Given the description of an element on the screen output the (x, y) to click on. 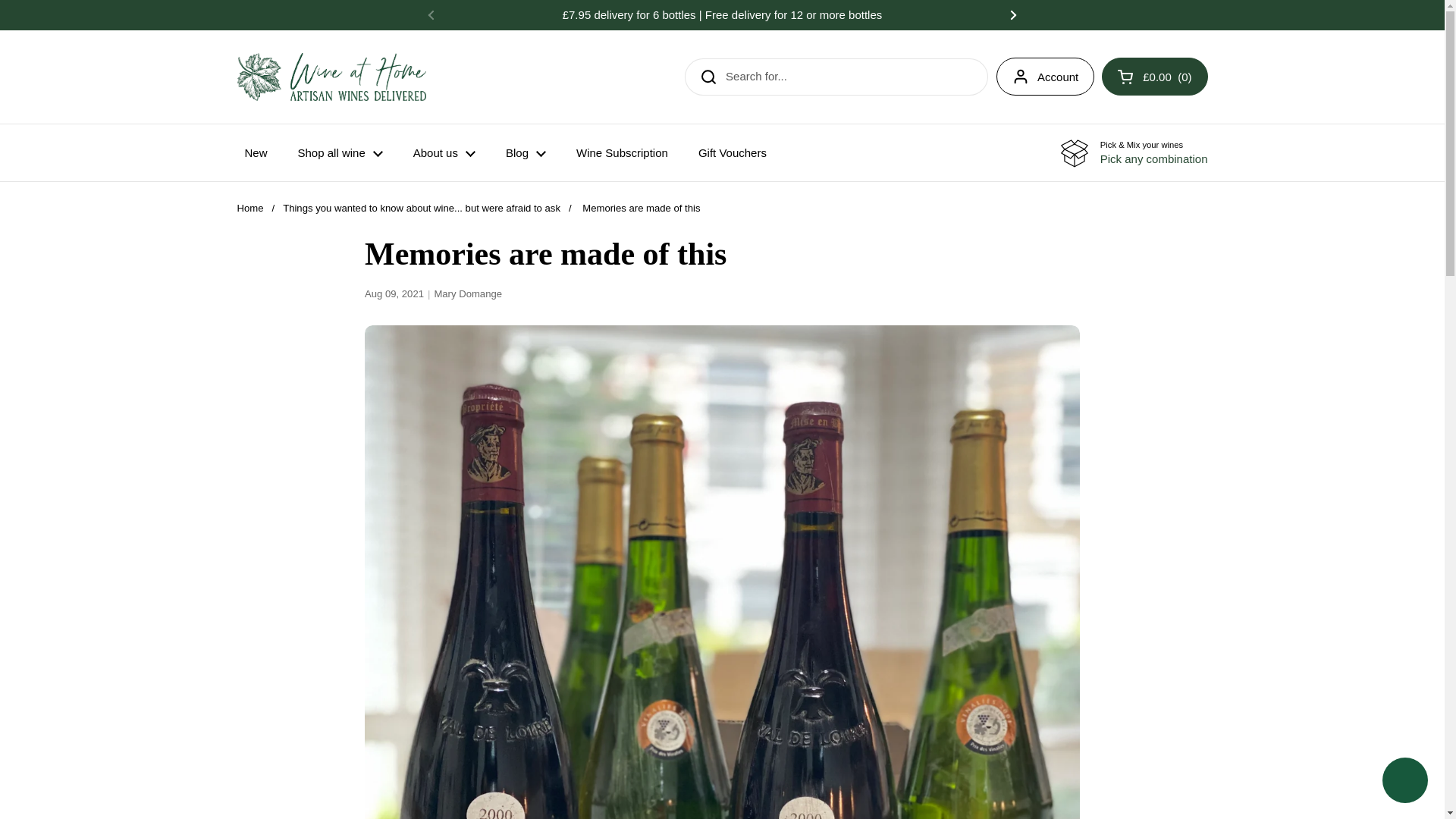
Open basket (1154, 76)
About us (443, 152)
Shop all wine (339, 152)
New (255, 152)
Wine at Home (330, 76)
Account (1044, 76)
Shopify online store chat (1404, 781)
